Given the description of an element on the screen output the (x, y) to click on. 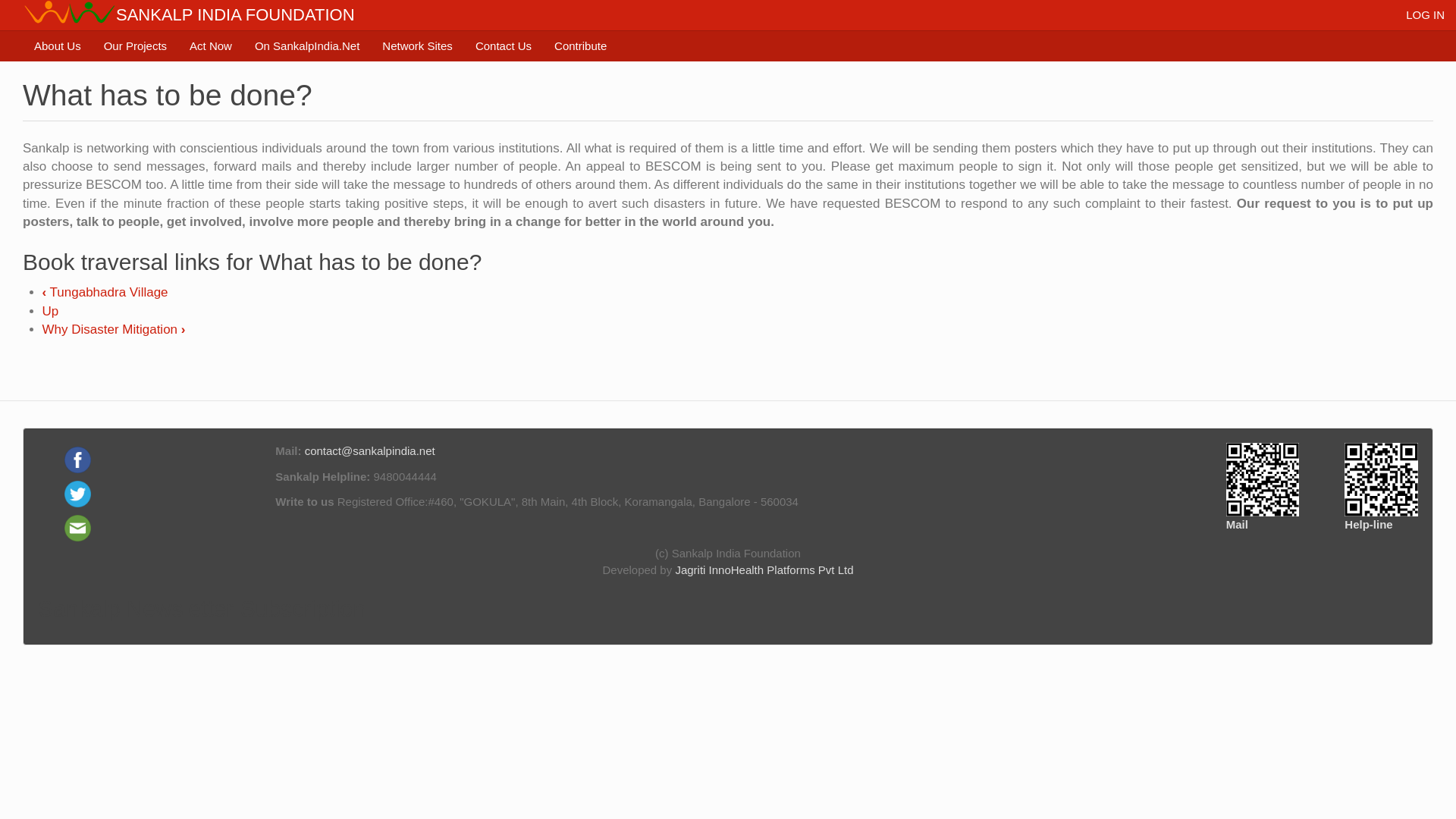
Get to know more about Sankalp (58, 46)
SANKALP INDIA FOUNDATION (235, 15)
These are the activities undertaken by Sankalp (135, 46)
Act Now (210, 46)
Various things on SankalpIndia.Net (307, 46)
About Us (58, 46)
On SankalpIndia.Net (307, 46)
Our Projects (135, 46)
These are the things you can get started with (210, 46)
Home (235, 15)
Home (69, 12)
